Given the description of an element on the screen output the (x, y) to click on. 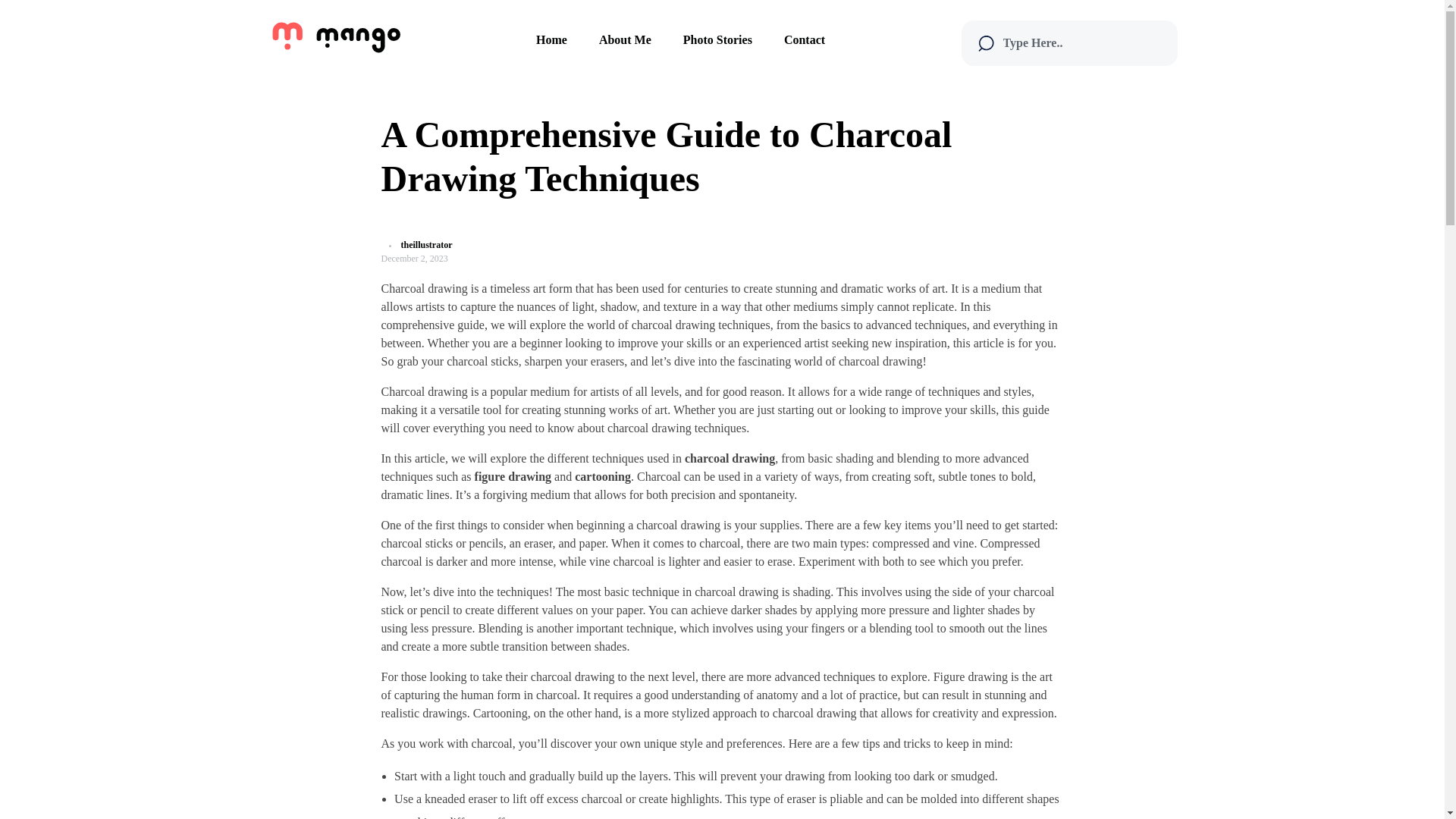
Photo Stories (717, 40)
View all posts by theillustrator (425, 244)
onezillustration.com (336, 34)
theillustrator (425, 244)
Contact (804, 40)
About Me (624, 40)
onezillustration.com (356, 63)
Home (551, 40)
